Given the description of an element on the screen output the (x, y) to click on. 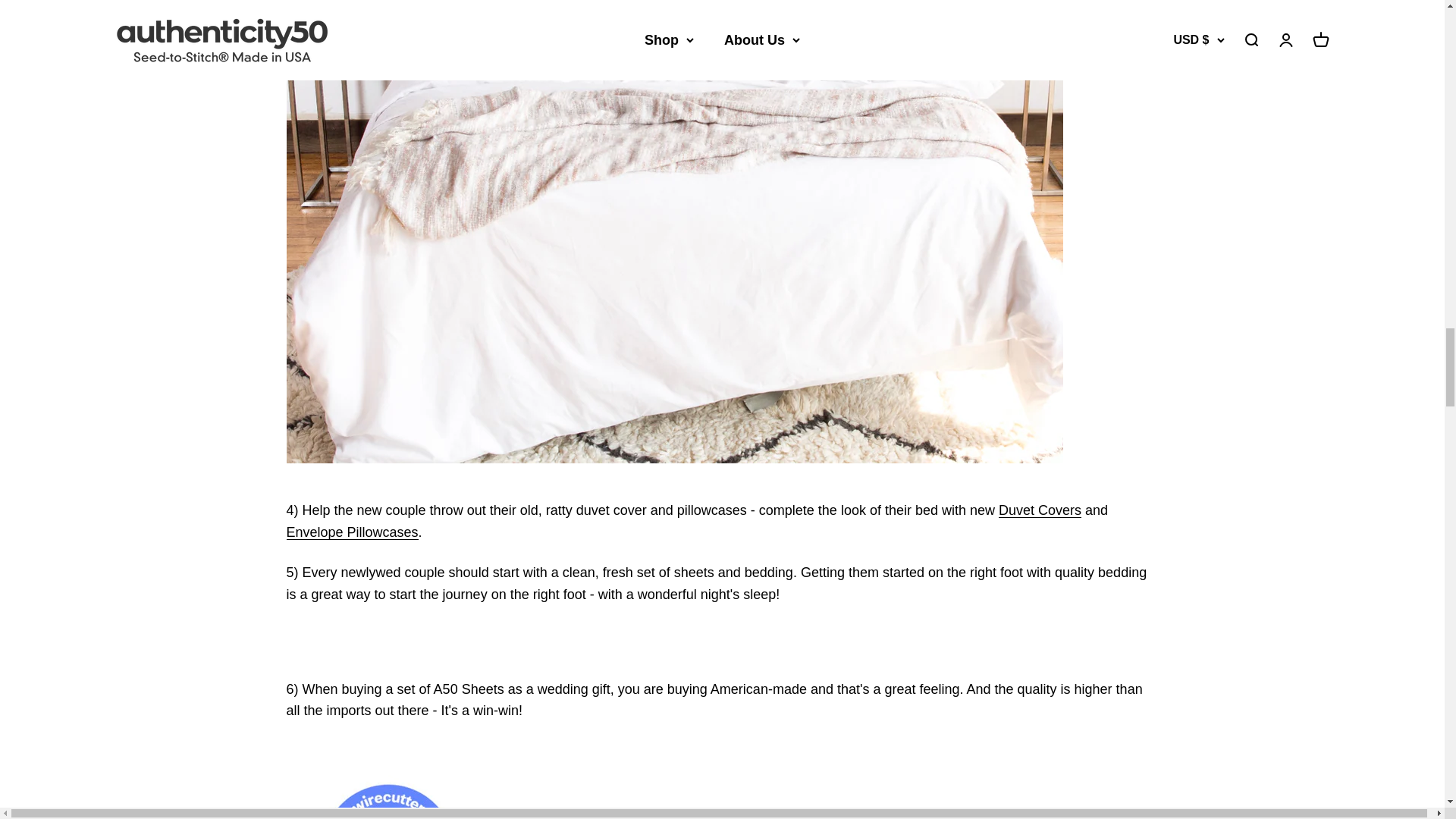
American made pillowcases (352, 531)
American made bedding (722, 788)
American made duvet covers (1039, 509)
